Given the description of an element on the screen output the (x, y) to click on. 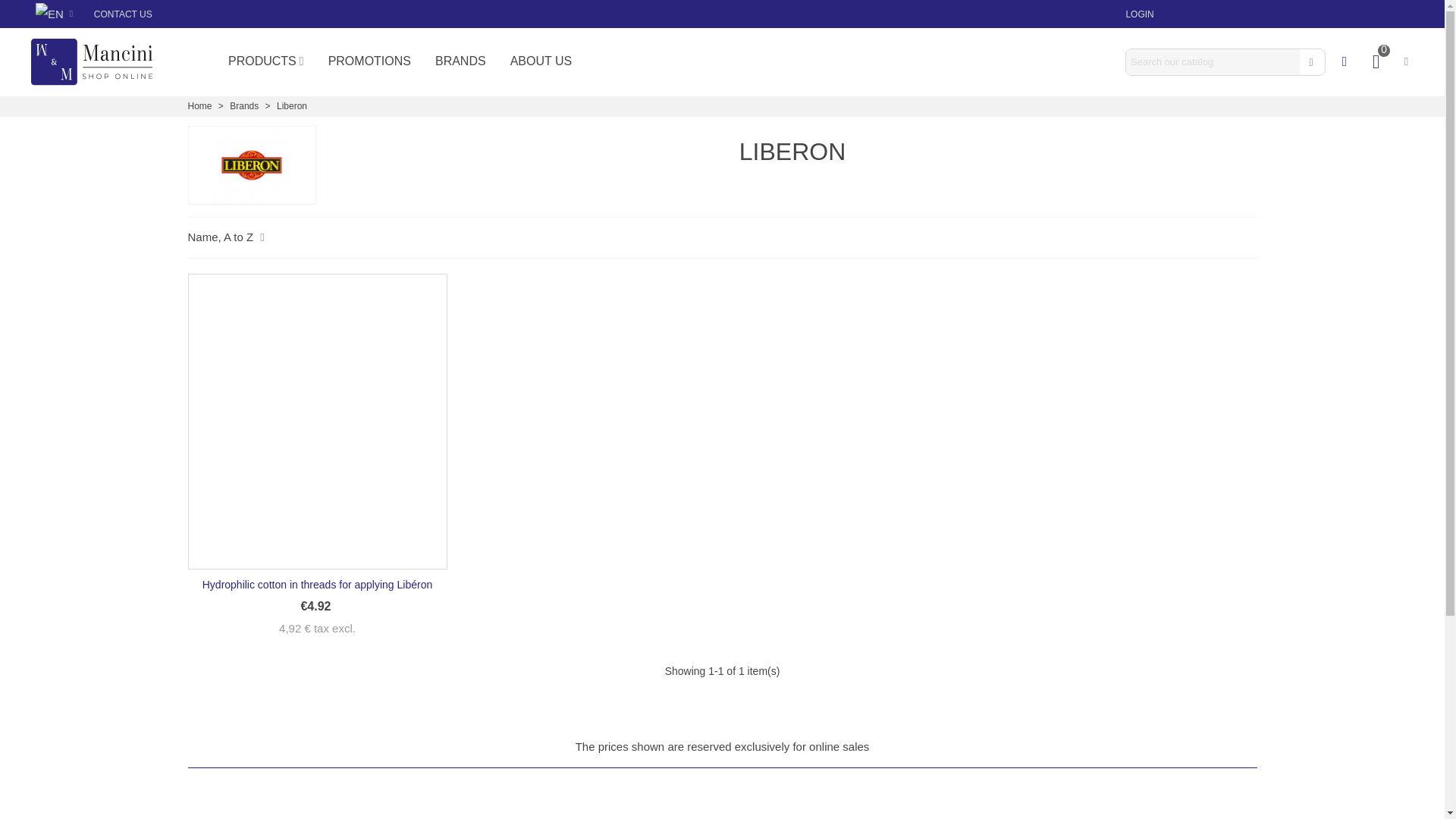
PRODUCTS (265, 61)
Log in to your customer account (1138, 13)
Trustpilot (1093, 12)
CONTACT US (122, 13)
LOGIN (1138, 13)
Contact us (122, 13)
Products (265, 61)
